Given the description of an element on the screen output the (x, y) to click on. 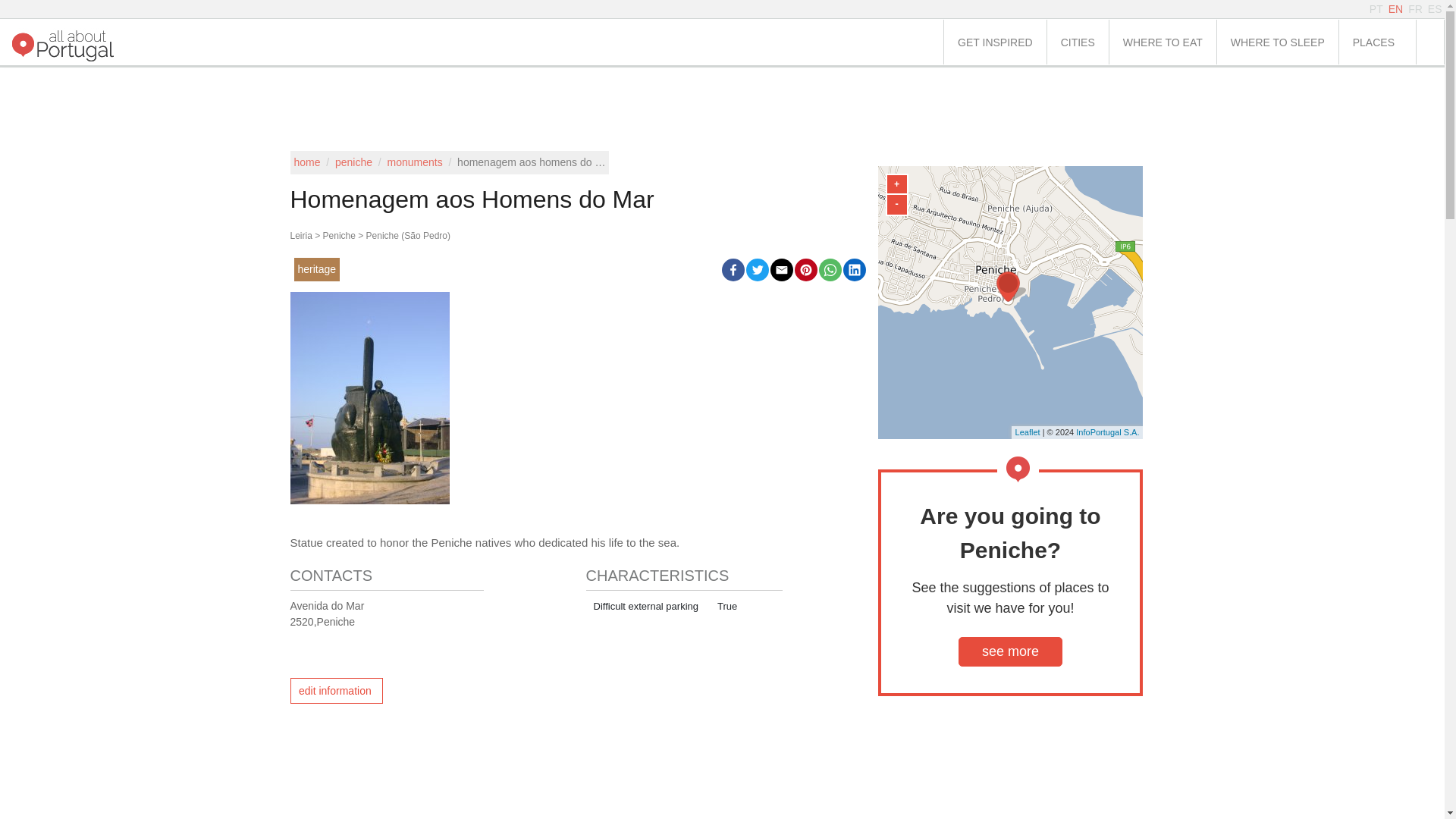
CITIES (1077, 41)
PLACES (1377, 41)
ES (1435, 9)
home (307, 162)
edit information  (335, 690)
heritage (317, 268)
Zoom in (896, 184)
PT (1376, 9)
EN (1396, 9)
FR (1414, 9)
